Given the description of an element on the screen output the (x, y) to click on. 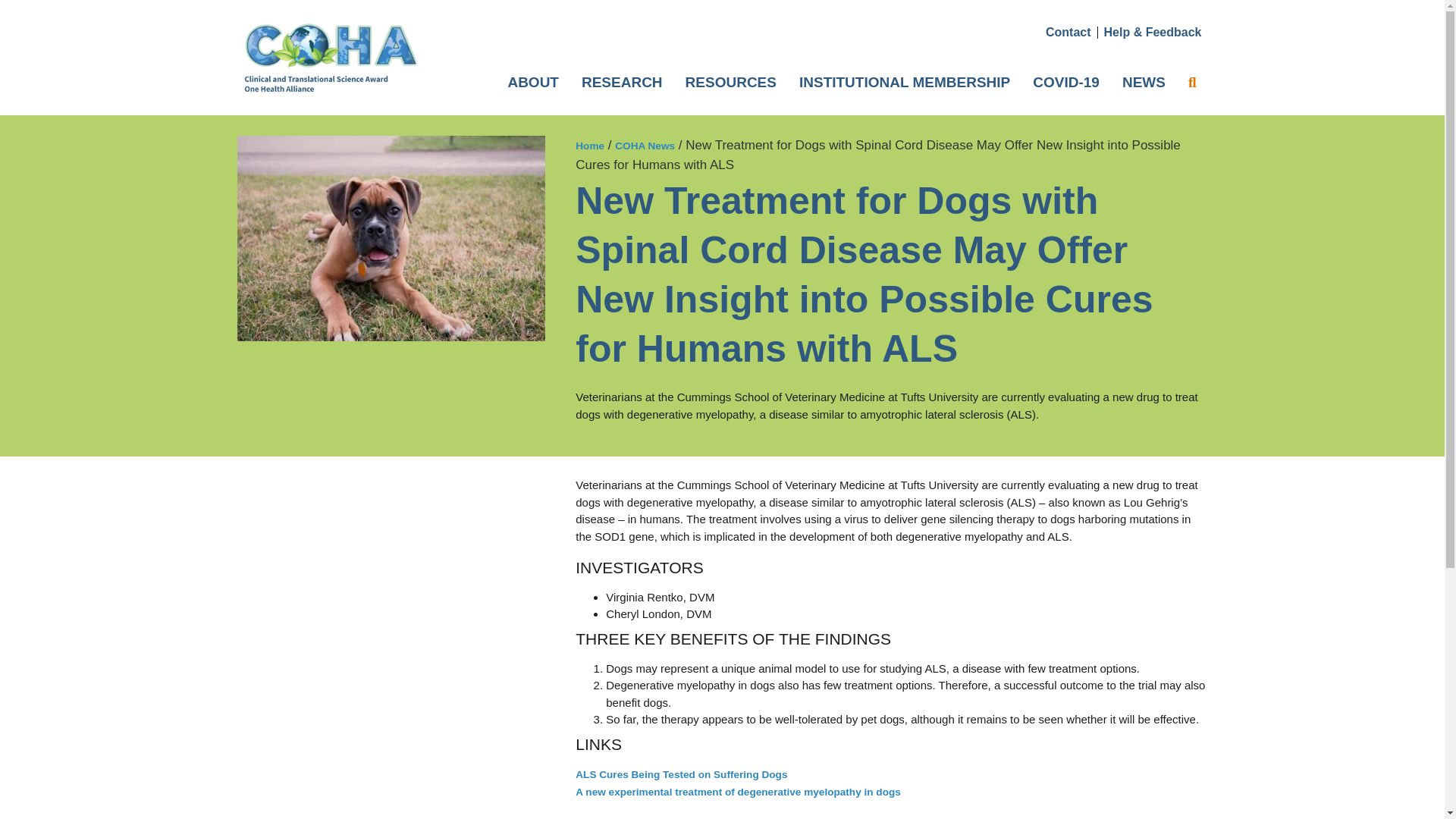
NEWS (1143, 82)
INSTITUTIONAL MEMBERSHIP (904, 82)
Home (589, 145)
RESOURCES (730, 82)
ABOUT (533, 82)
Contact (1068, 32)
ALS Cures Being Tested on Suffering Dogs (681, 774)
COHA News (644, 145)
RESEARCH (622, 82)
COVID-19 (1066, 82)
